Given the description of an element on the screen output the (x, y) to click on. 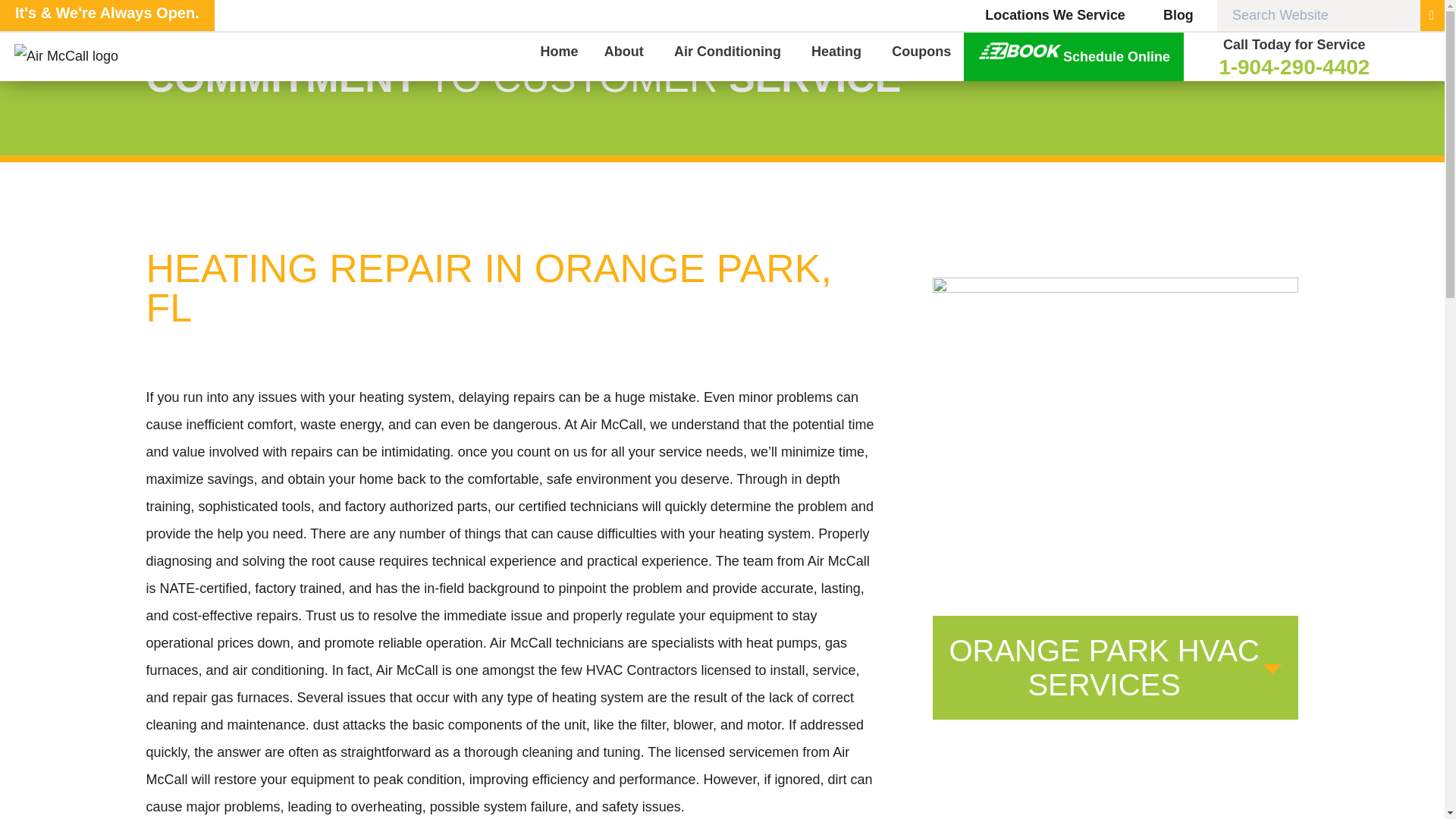
Schedule Online (1073, 56)
Blog (1169, 15)
Air Conditioning (729, 56)
About (626, 56)
Air McCall (89, 56)
Heating (838, 56)
1-904-290-4402 (1294, 67)
Locations We Service (1054, 15)
Home (559, 56)
Coupons (921, 56)
